Given the description of an element on the screen output the (x, y) to click on. 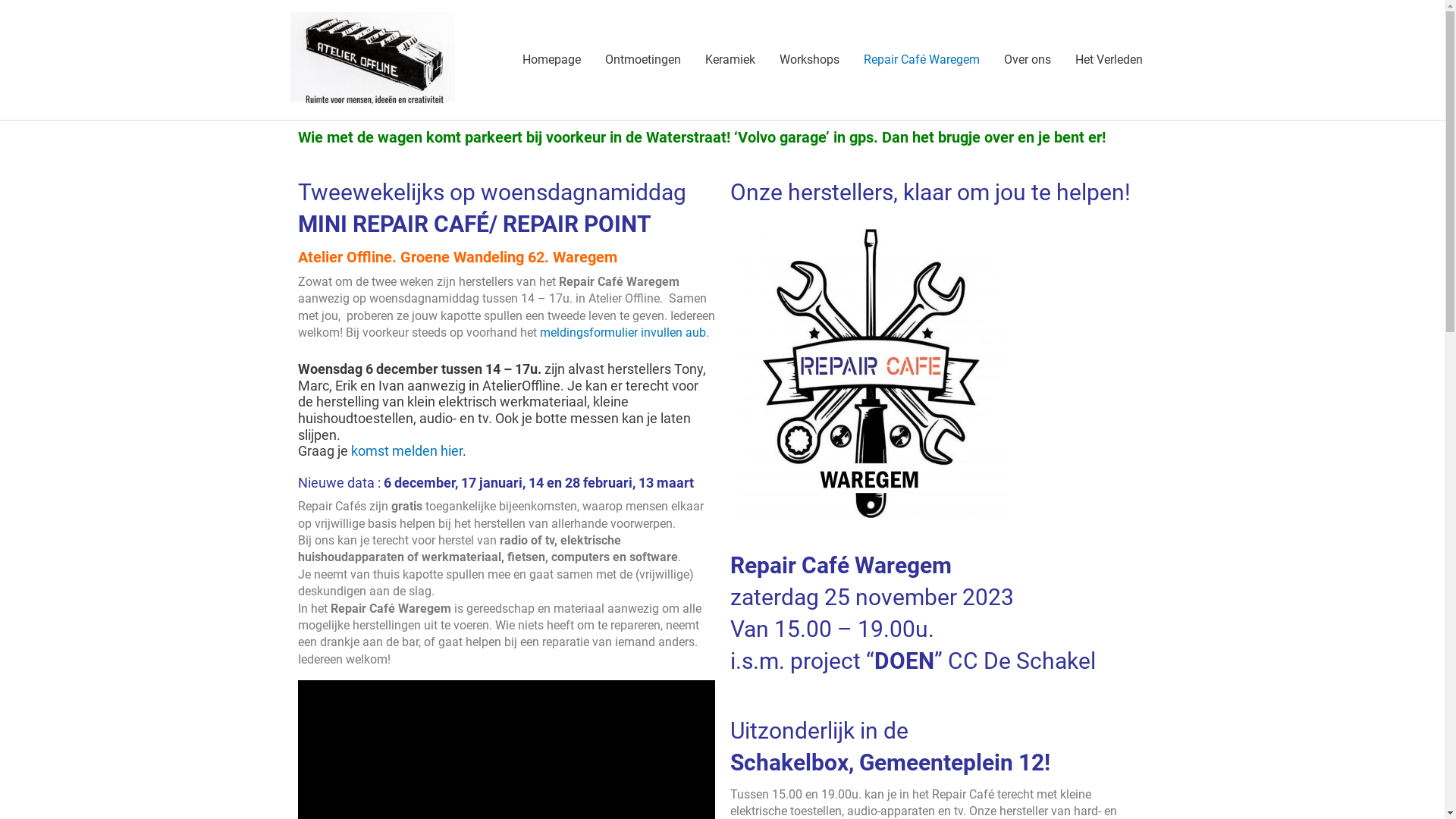
Homepage Element type: text (550, 59)
komst melden hier Element type: text (405, 450)
meldingsformulier invullen aub. Element type: text (624, 332)
Ontmoetingen Element type: text (643, 59)
Over ons Element type: text (1027, 59)
Het Verleden Element type: text (1108, 59)
Keramiek Element type: text (730, 59)
logo-rcw-kLEUR Element type: hover (872, 375)
Workshops Element type: text (809, 59)
